Given the description of an element on the screen output the (x, y) to click on. 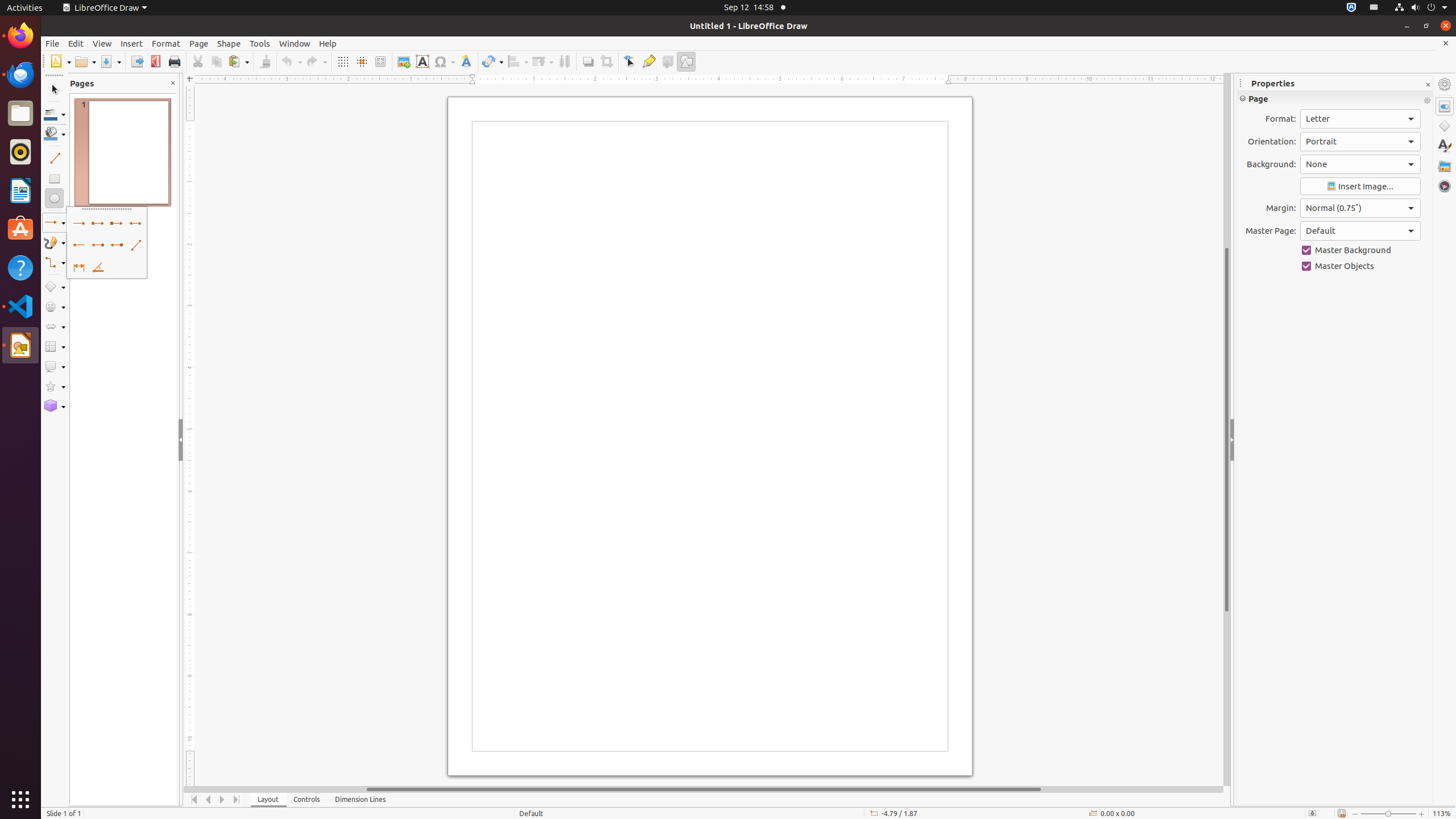
Background: Element type: combo-box (1360, 164)
Fontwork Style Element type: toggle-button (465, 61)
Thunderbird Mail Element type: push-button (20, 74)
Undo Element type: push-button (290, 61)
Image Element type: push-button (403, 61)
